Given the description of an element on the screen output the (x, y) to click on. 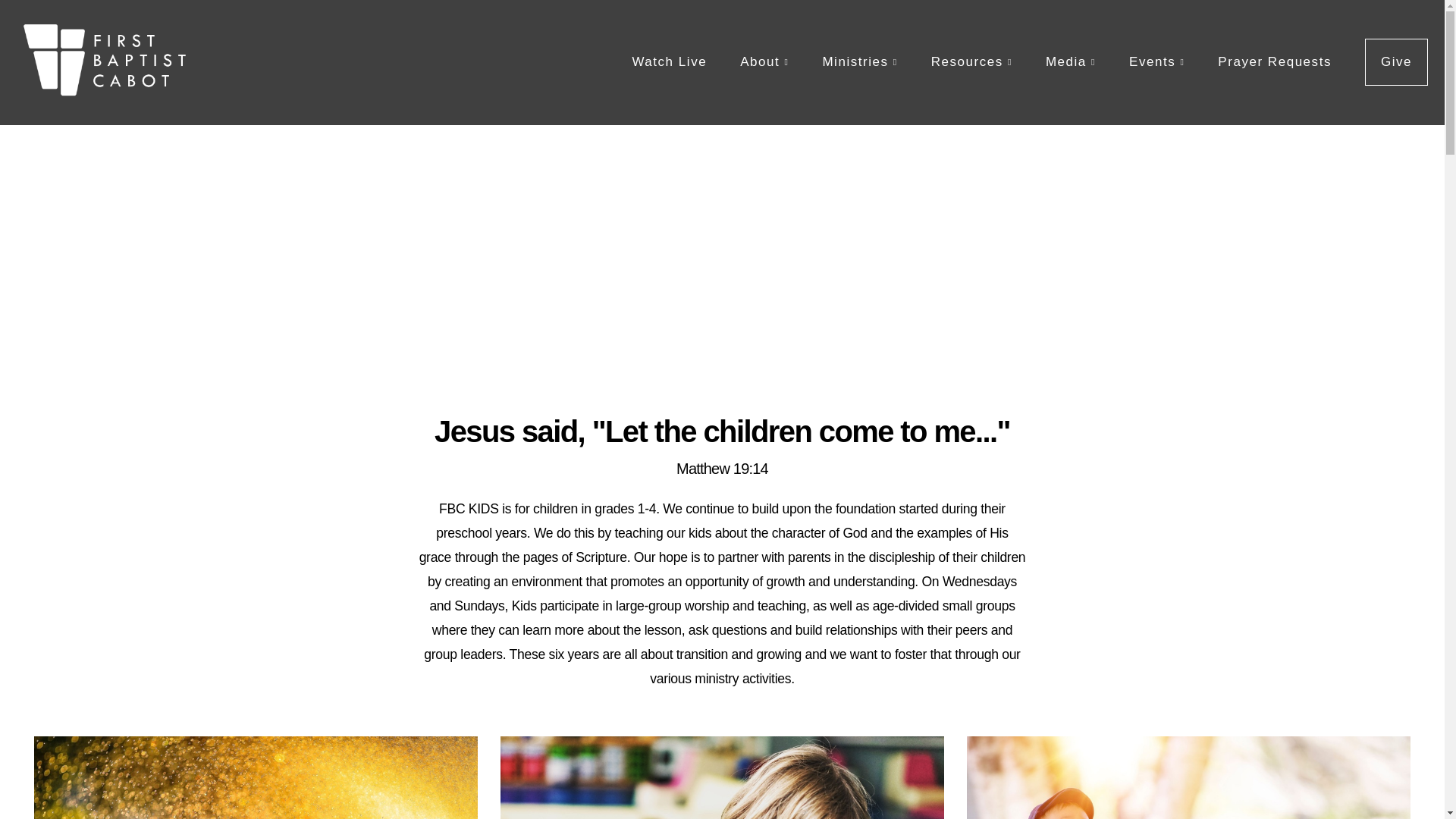
About  (764, 62)
Media  (1070, 62)
Watch Live (668, 62)
Ministries  (859, 62)
Resources  (971, 62)
